Given the description of an element on the screen output the (x, y) to click on. 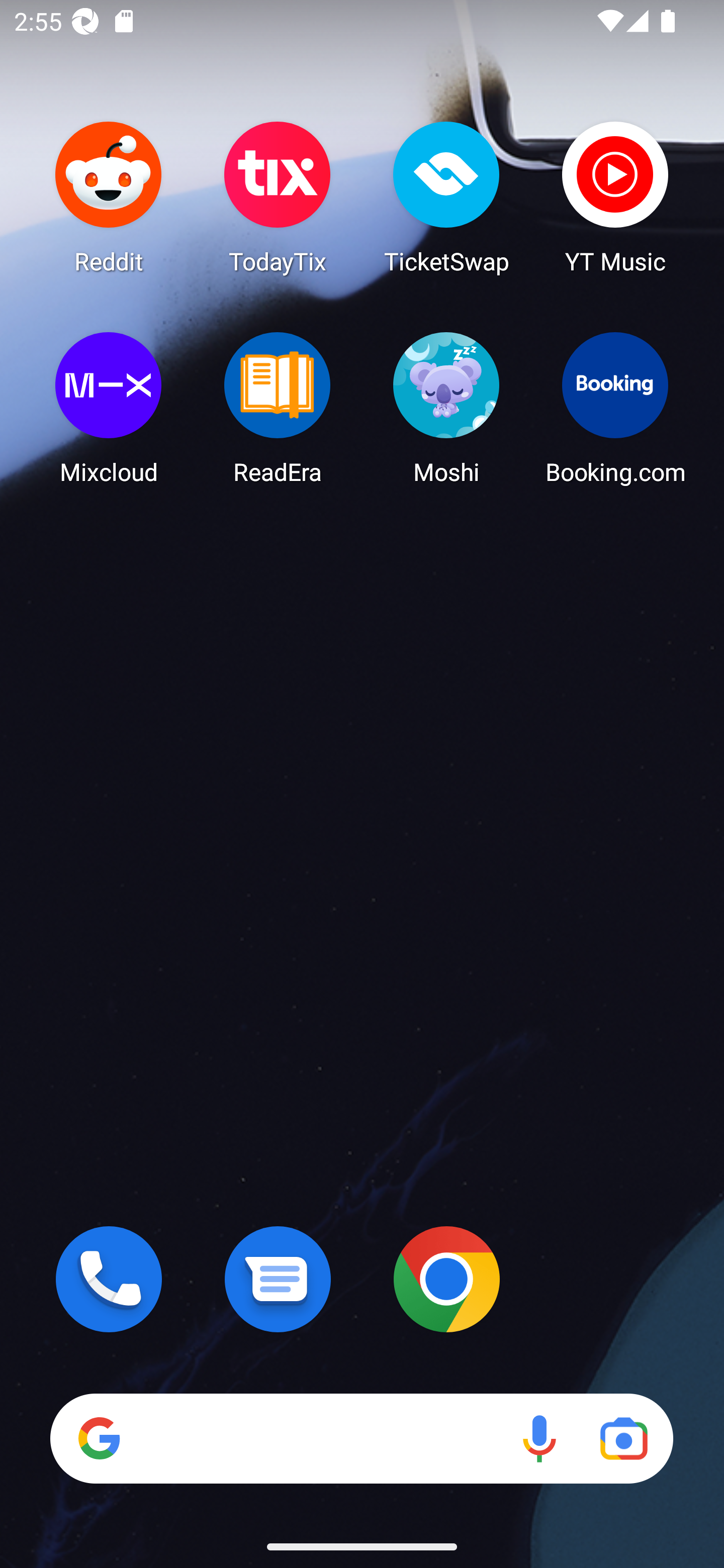
Reddit (108, 196)
TodayTix (277, 196)
TicketSwap (445, 196)
YT Music (615, 196)
Mixcloud (108, 407)
ReadEra (277, 407)
Moshi (445, 407)
Booking.com (615, 407)
Phone (108, 1279)
Messages (277, 1279)
Chrome (446, 1279)
Search Voice search Google Lens (361, 1438)
Voice search (539, 1438)
Google Lens (623, 1438)
